Given the description of an element on the screen output the (x, y) to click on. 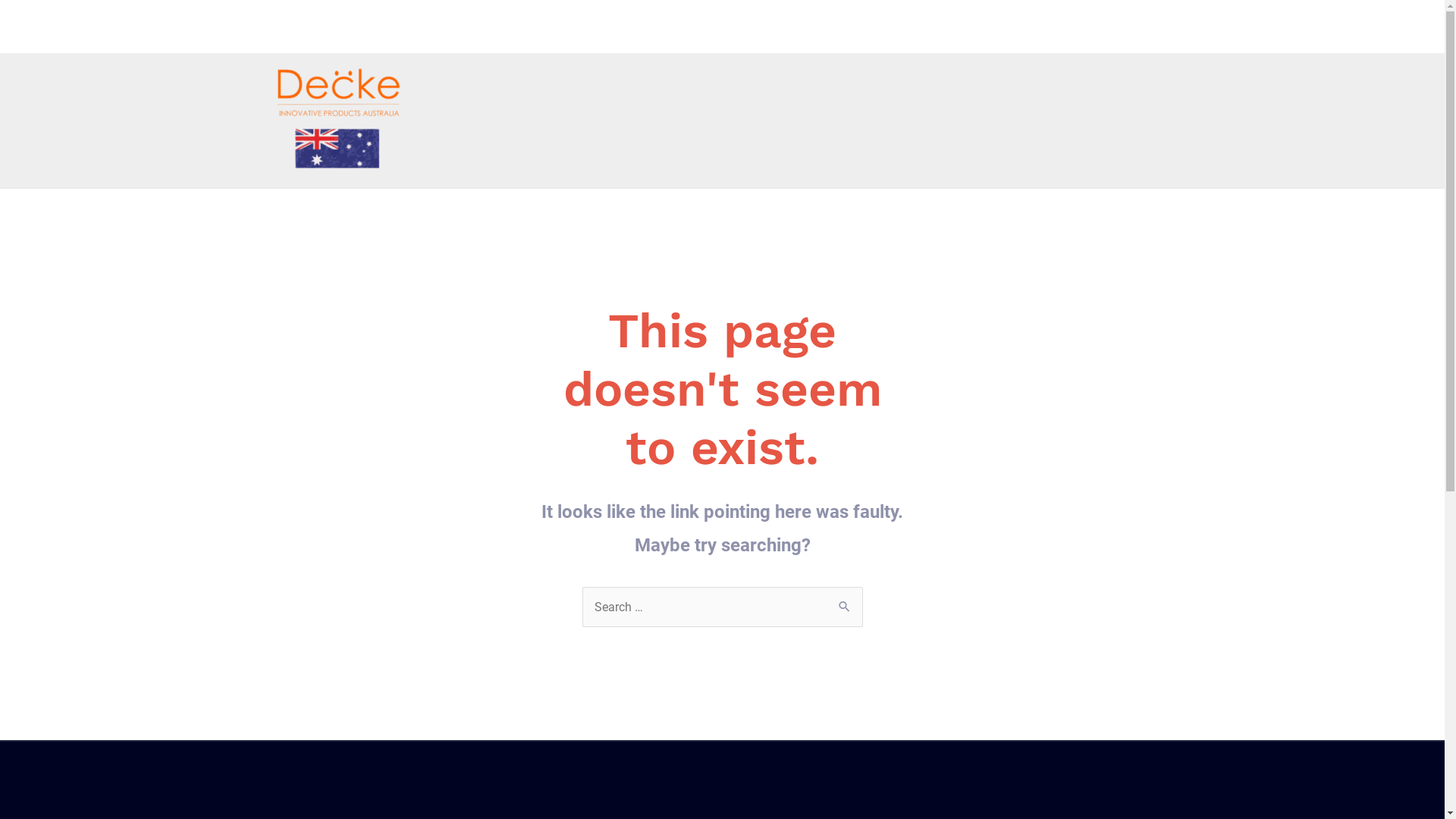
Search Element type: text (845, 602)
Home Element type: text (1148, 26)
